Given the description of an element on the screen output the (x, y) to click on. 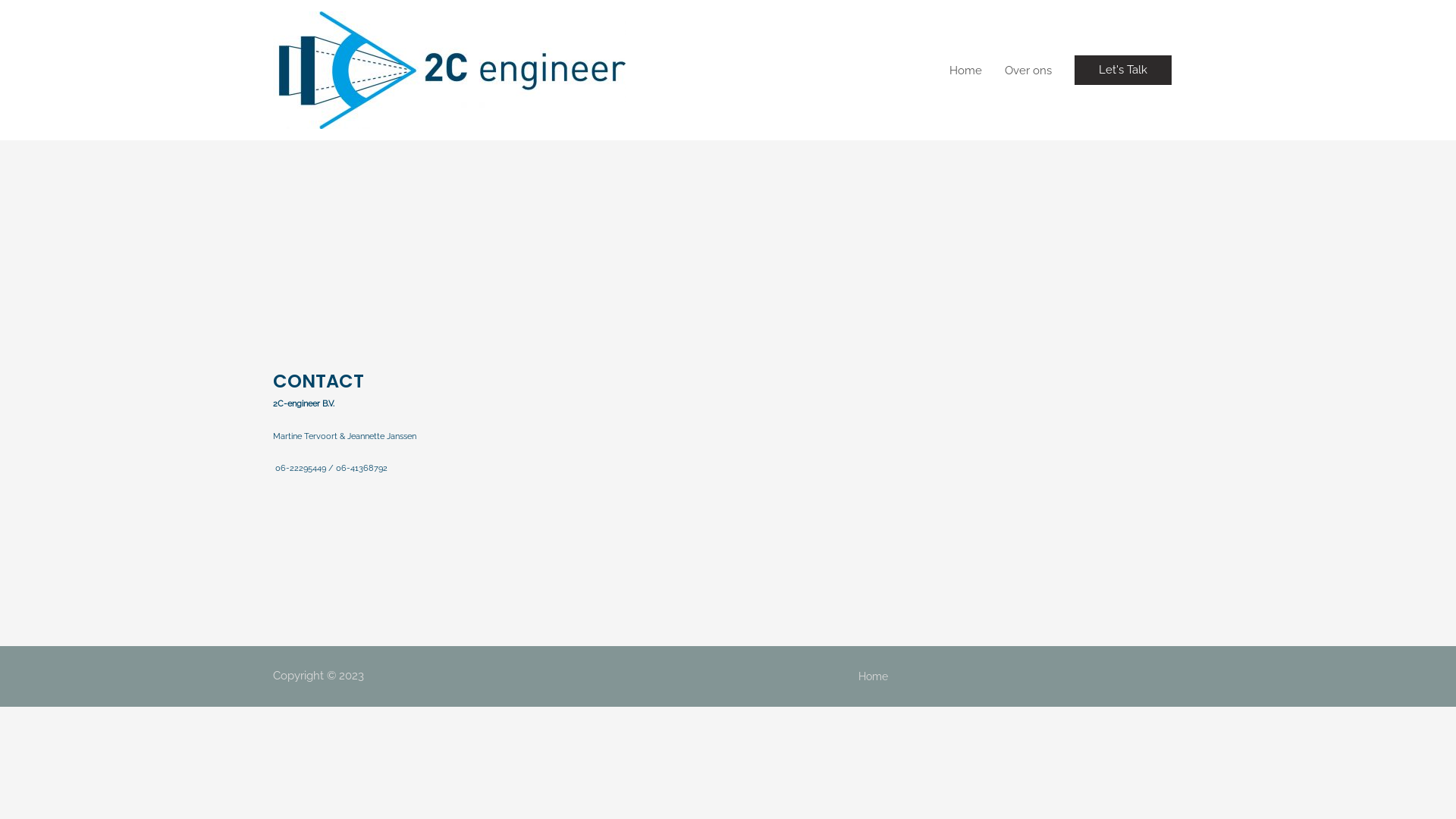
Let'S Talk Element type: text (1122, 69)
Home Element type: text (965, 69)
Over ons Element type: text (1028, 69)
Home Element type: text (872, 676)
